Given the description of an element on the screen output the (x, y) to click on. 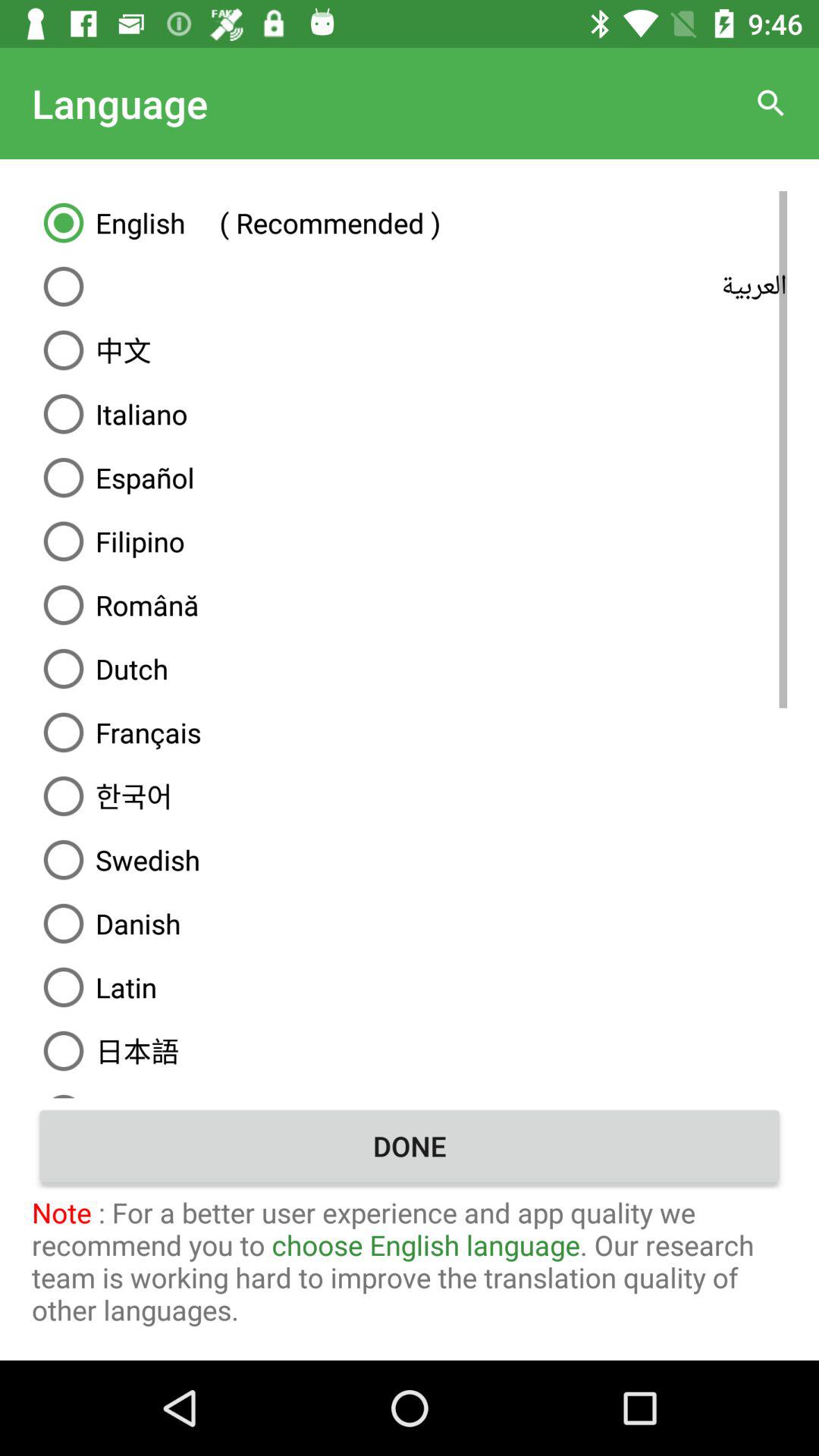
swipe to danish item (409, 923)
